Given the description of an element on the screen output the (x, y) to click on. 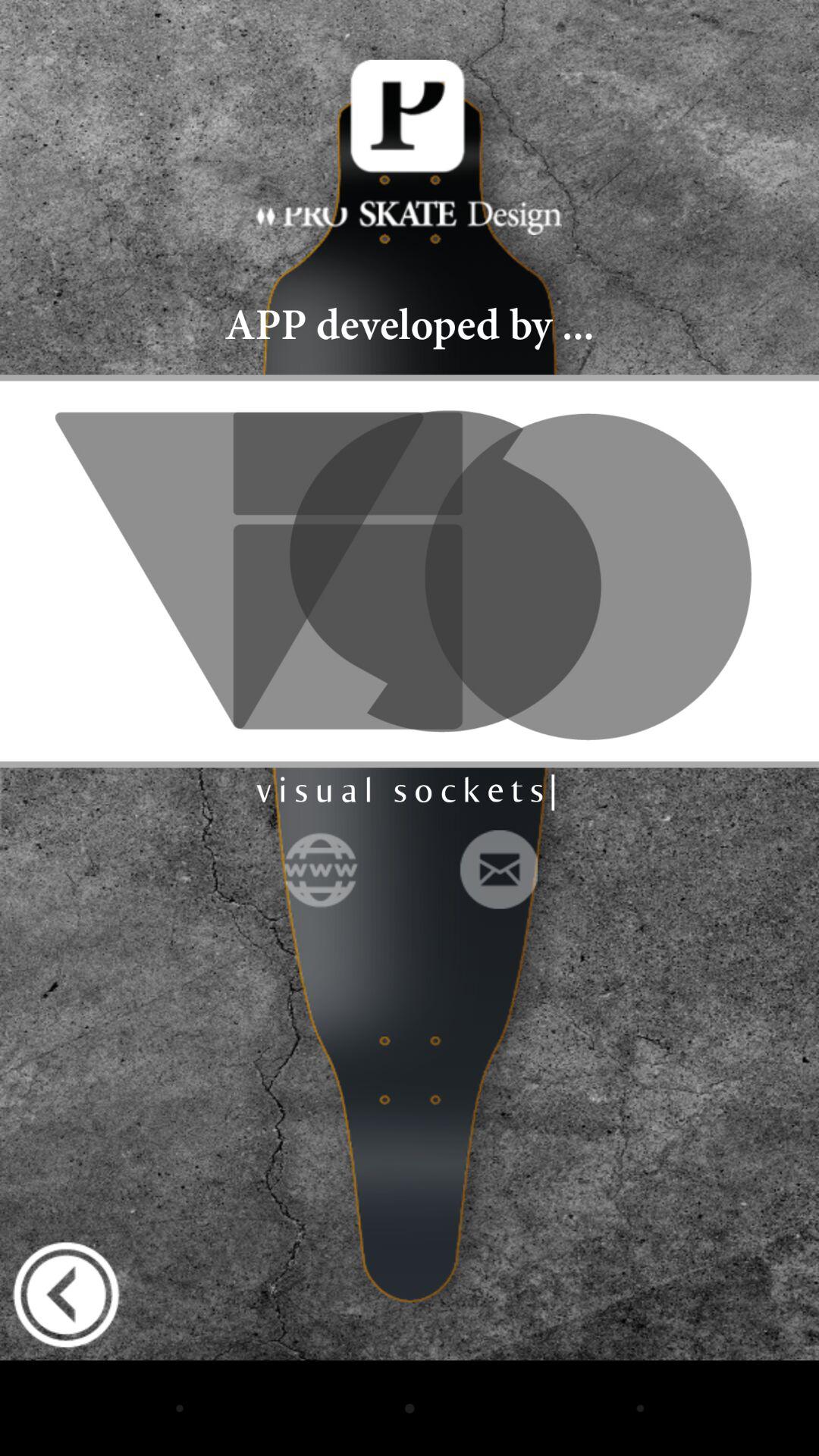
go back (66, 1293)
